Given the description of an element on the screen output the (x, y) to click on. 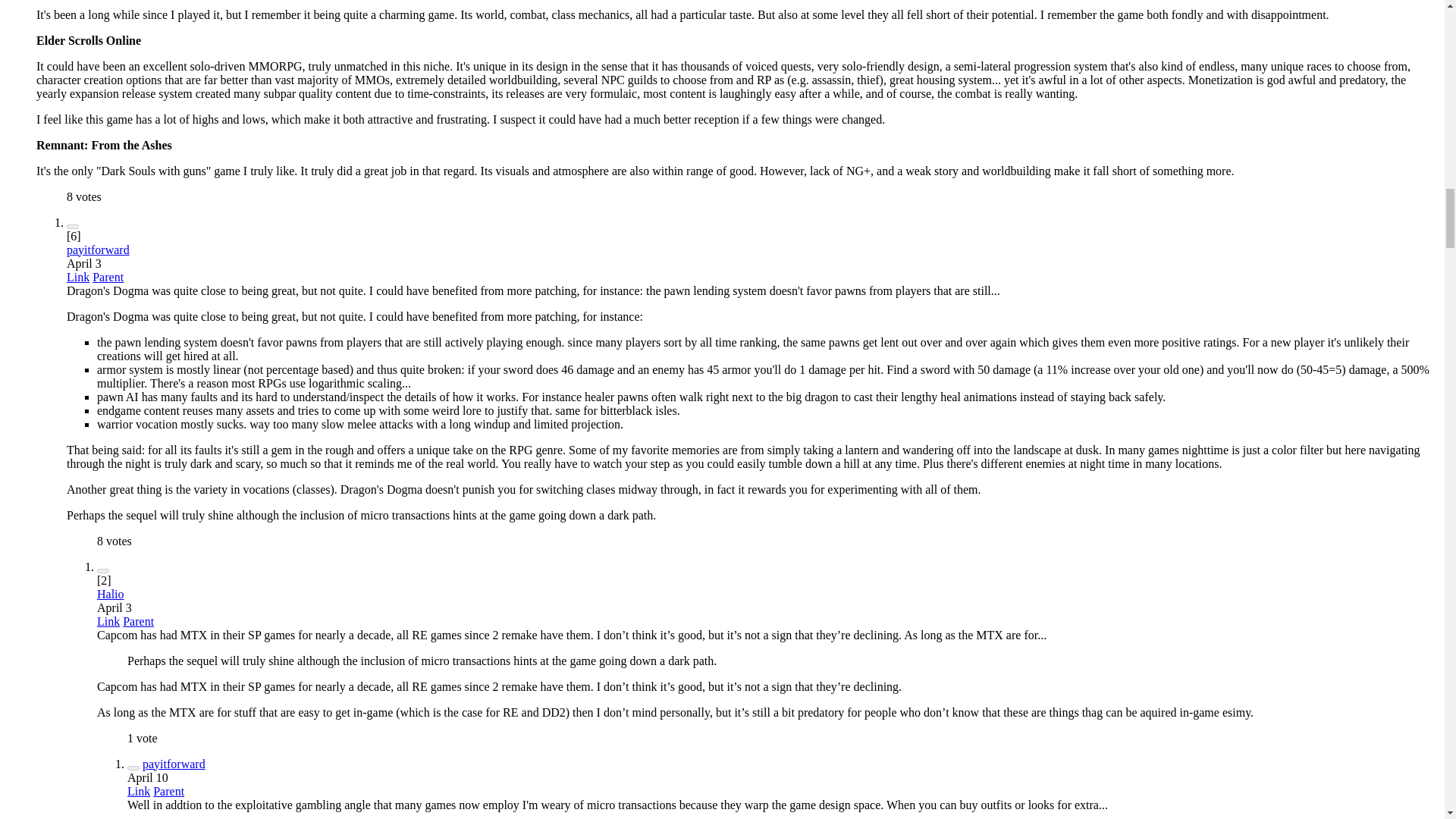
2024-04-10 23:39:32 UTC (148, 777)
2024-04-03 21:30:20 UTC (114, 607)
2024-04-03 02:17:13 UTC (83, 263)
